Given the description of an element on the screen output the (x, y) to click on. 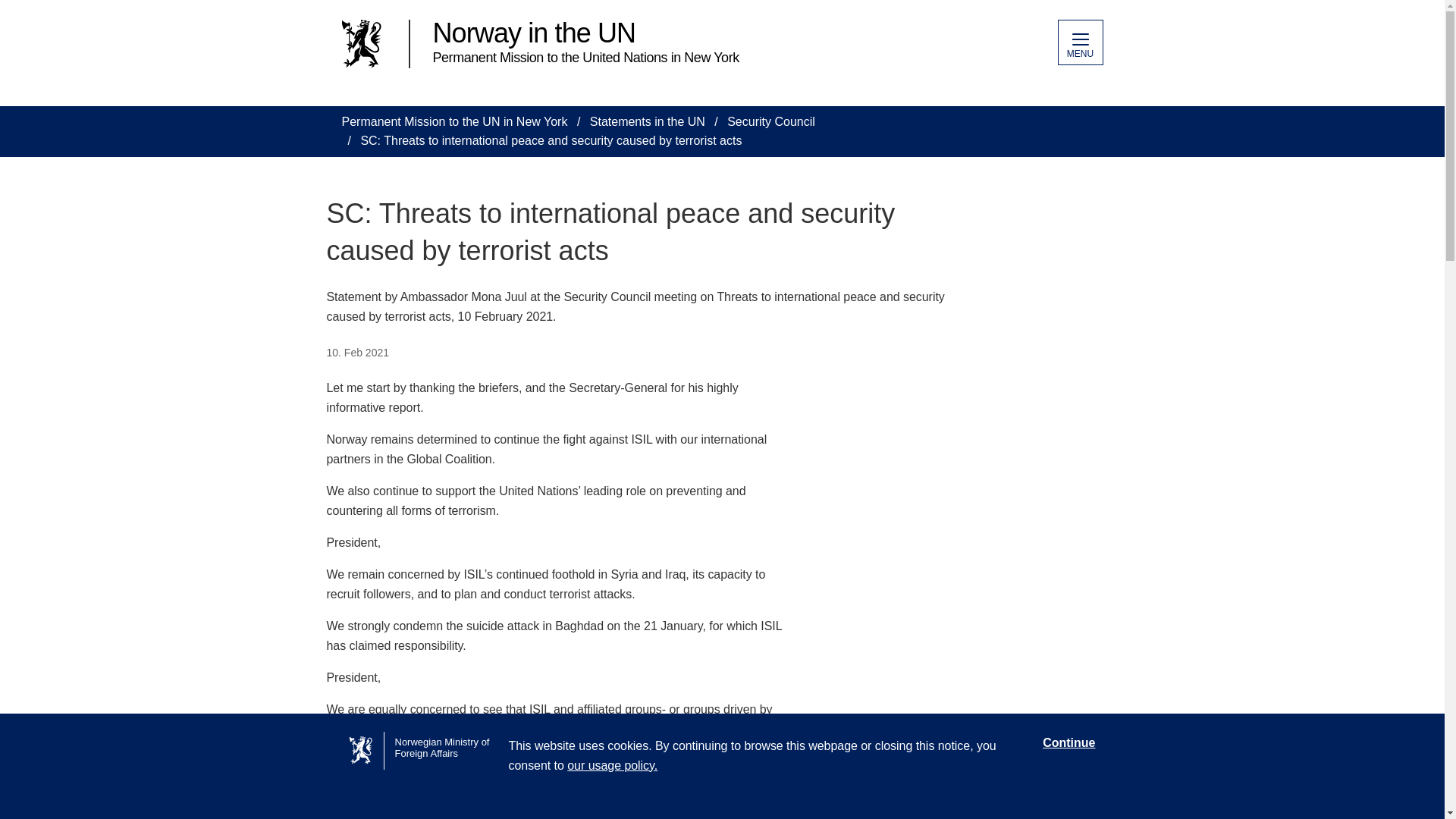
our usage policy. (612, 765)
Security Council (770, 121)
Permanent Mission to the UN in New York (453, 121)
Permanent Mission to the UN in New York (453, 121)
Security Council (770, 121)
Statements in the UN (646, 121)
MENU (1079, 42)
Continue (1068, 743)
Statements in the UN (646, 121)
